Given the description of an element on the screen output the (x, y) to click on. 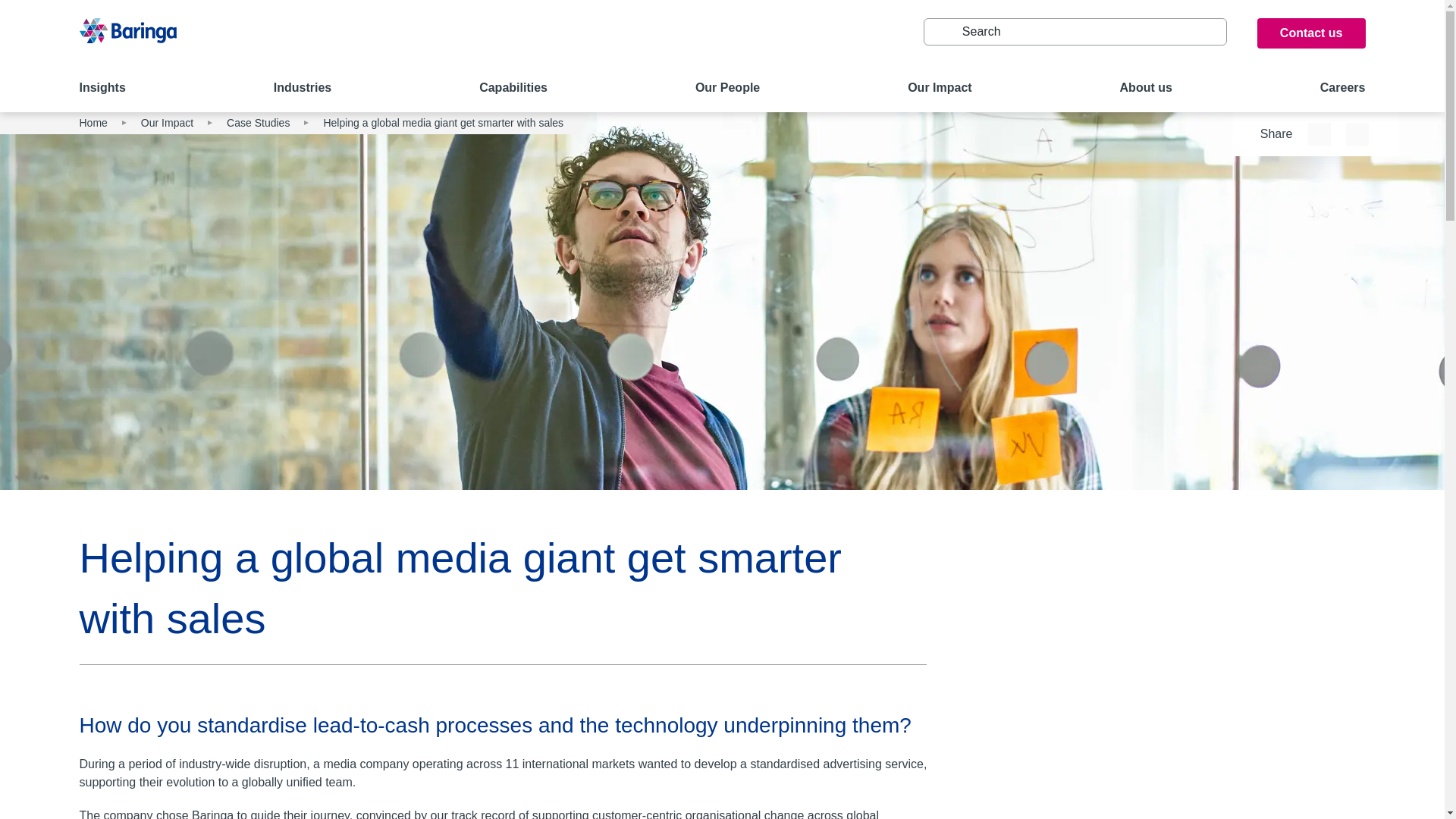
Search (941, 31)
Baringa Partners LLP (127, 38)
Contact us (1311, 33)
Industries (302, 89)
Insights (101, 89)
